Given the description of an element on the screen output the (x, y) to click on. 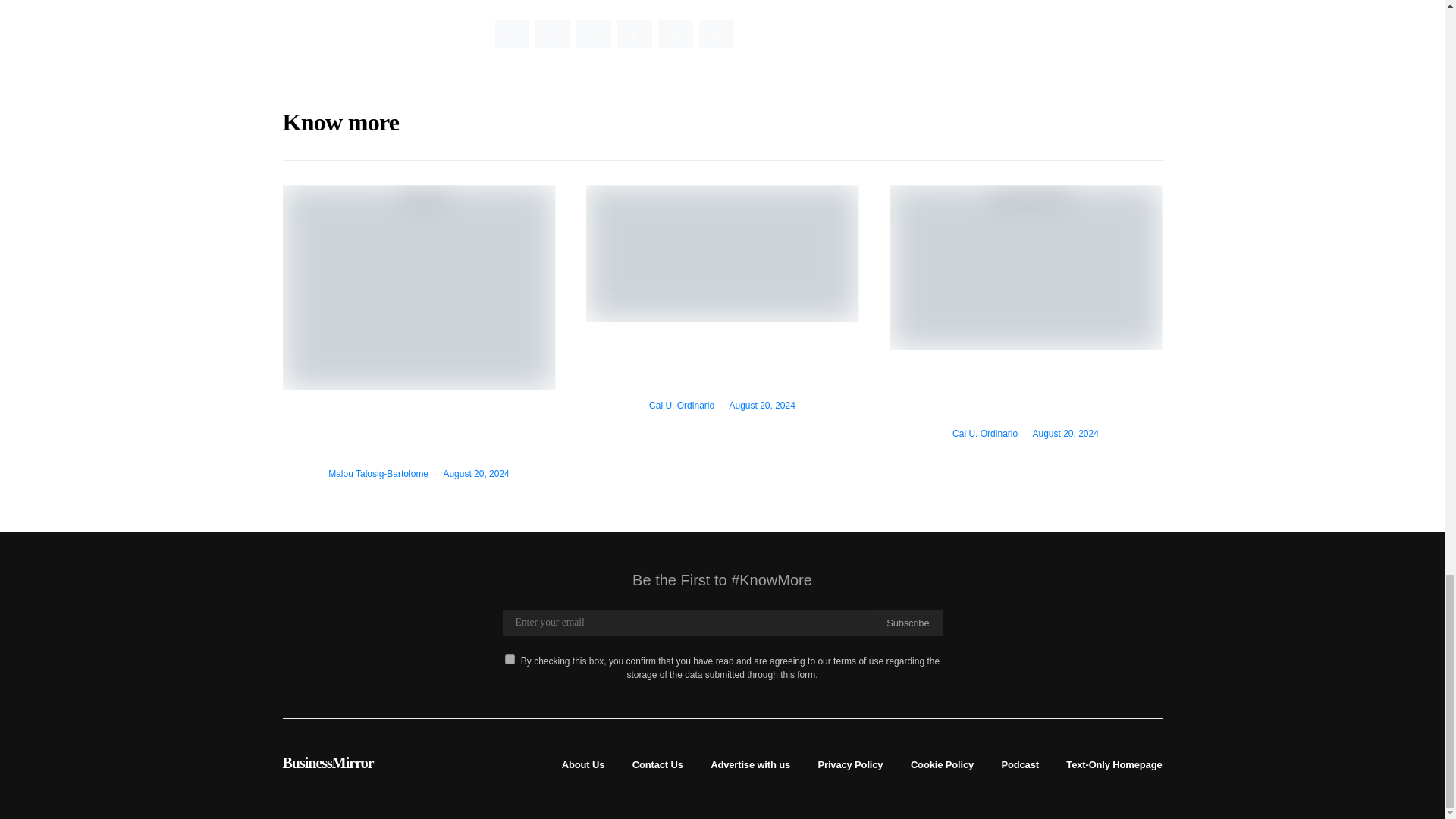
on (510, 659)
View all posts by Malou Talosig-Bartolome (378, 473)
View all posts by Cai U. Ordinario (681, 405)
View all posts by Cai U. Ordinario (984, 433)
